Given the description of an element on the screen output the (x, y) to click on. 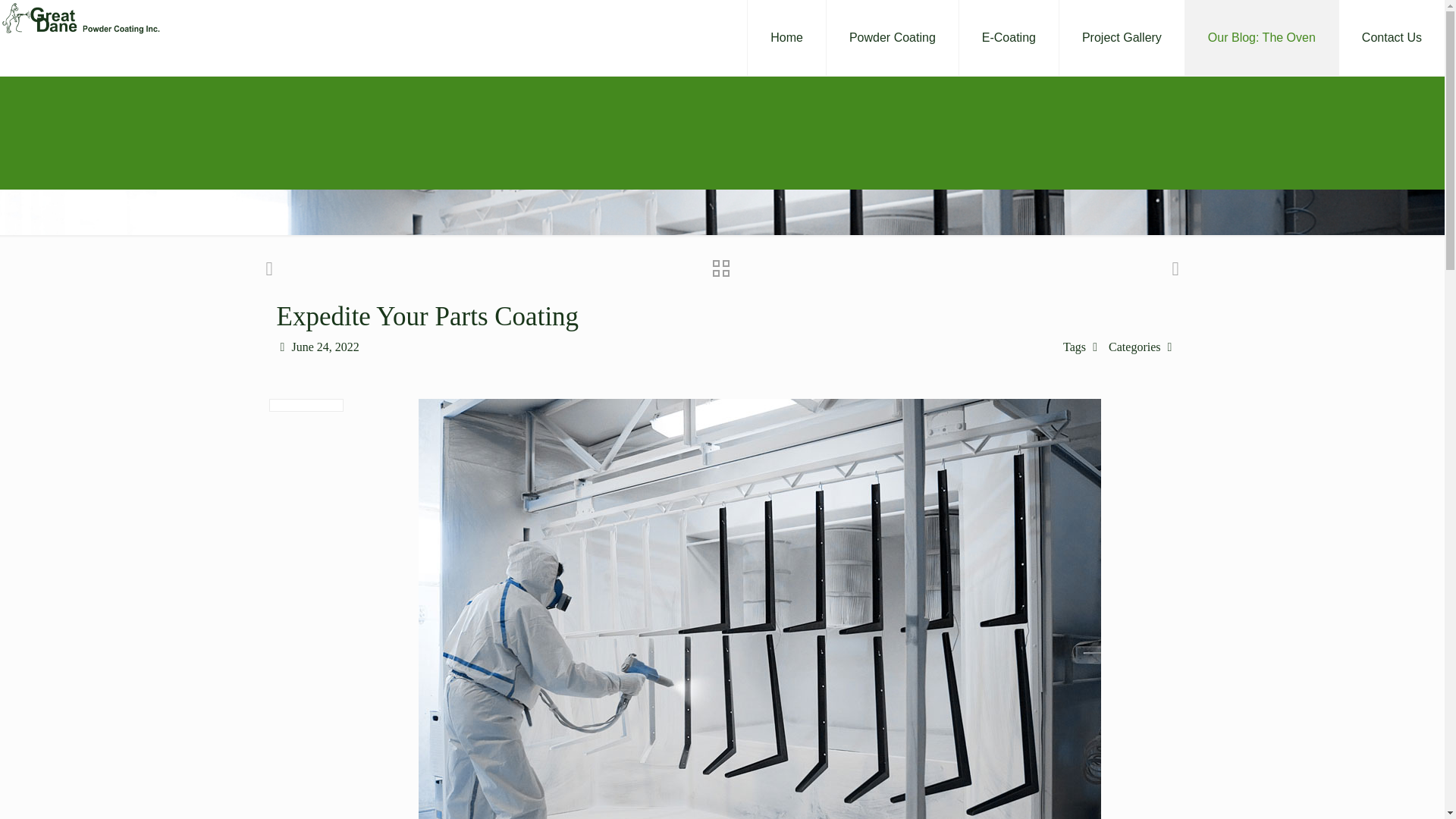
Powder Coating (893, 38)
Home (786, 38)
Our Blog: The Oven (1262, 38)
Great Dane Powder Coating (80, 18)
Project Gallery (1122, 38)
E-Coating (1009, 38)
